Given the description of an element on the screen output the (x, y) to click on. 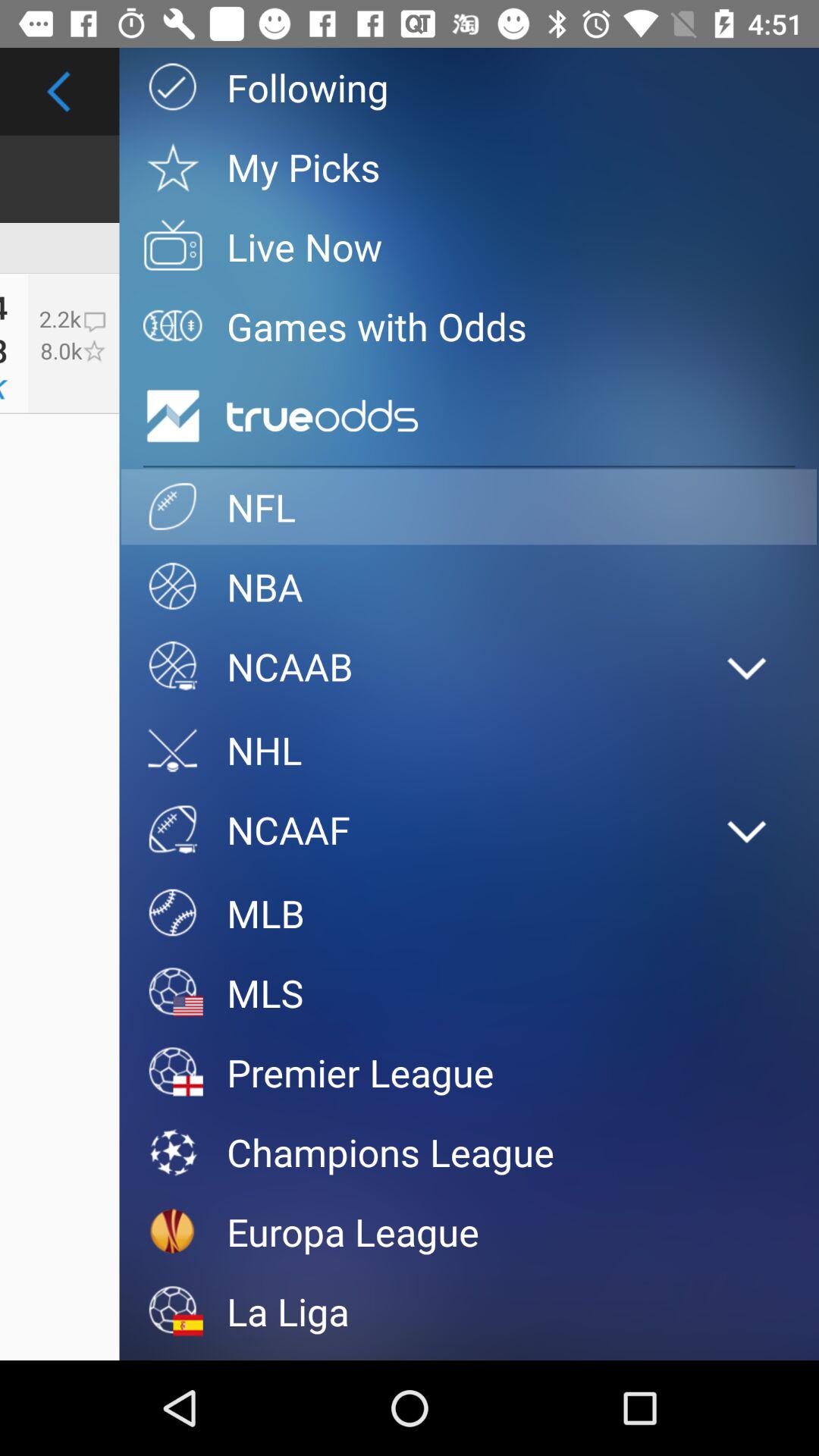
scroll to the mls icon (469, 992)
